Given the description of an element on the screen output the (x, y) to click on. 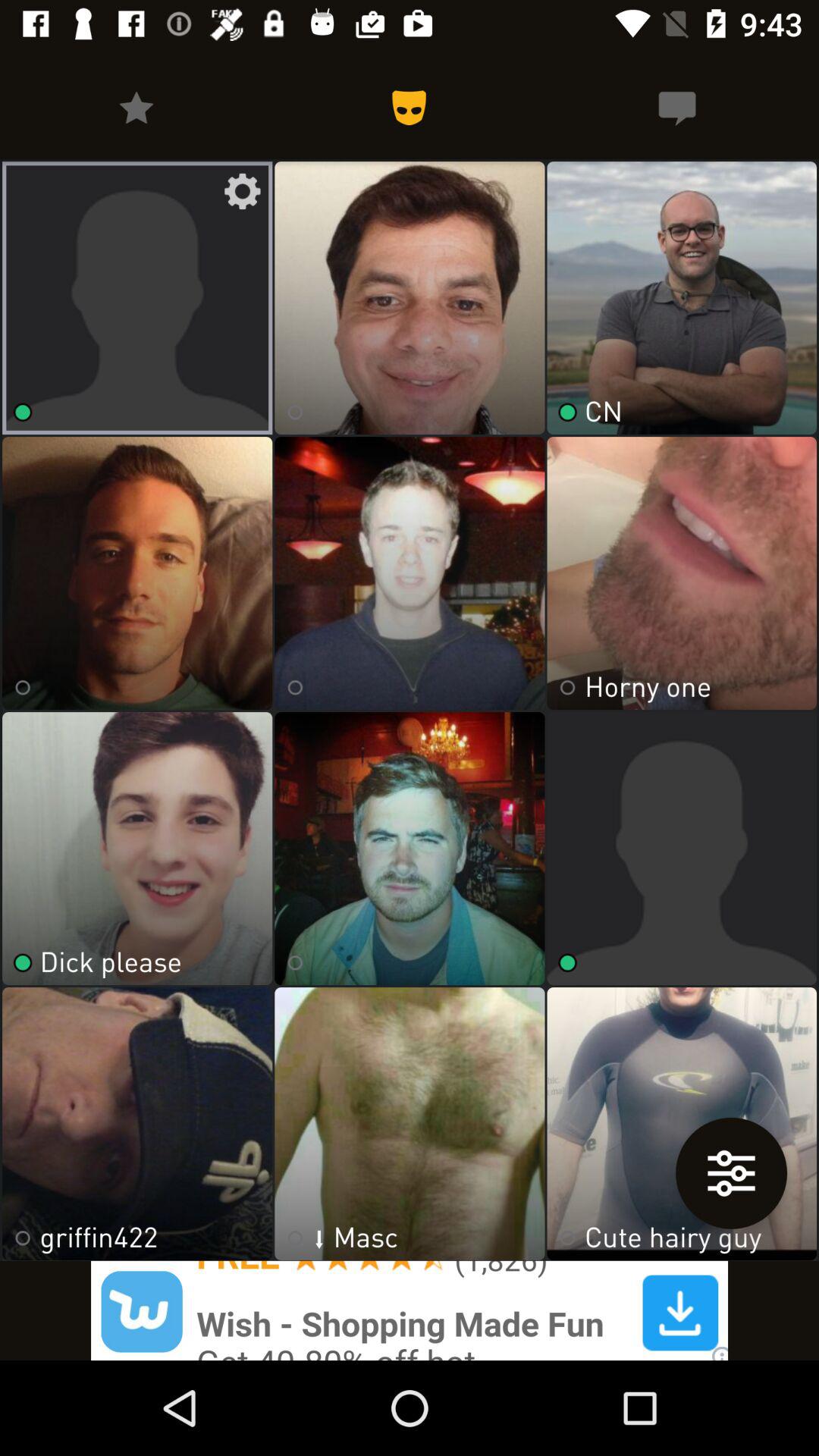
advertising (409, 1310)
